Given the description of an element on the screen output the (x, y) to click on. 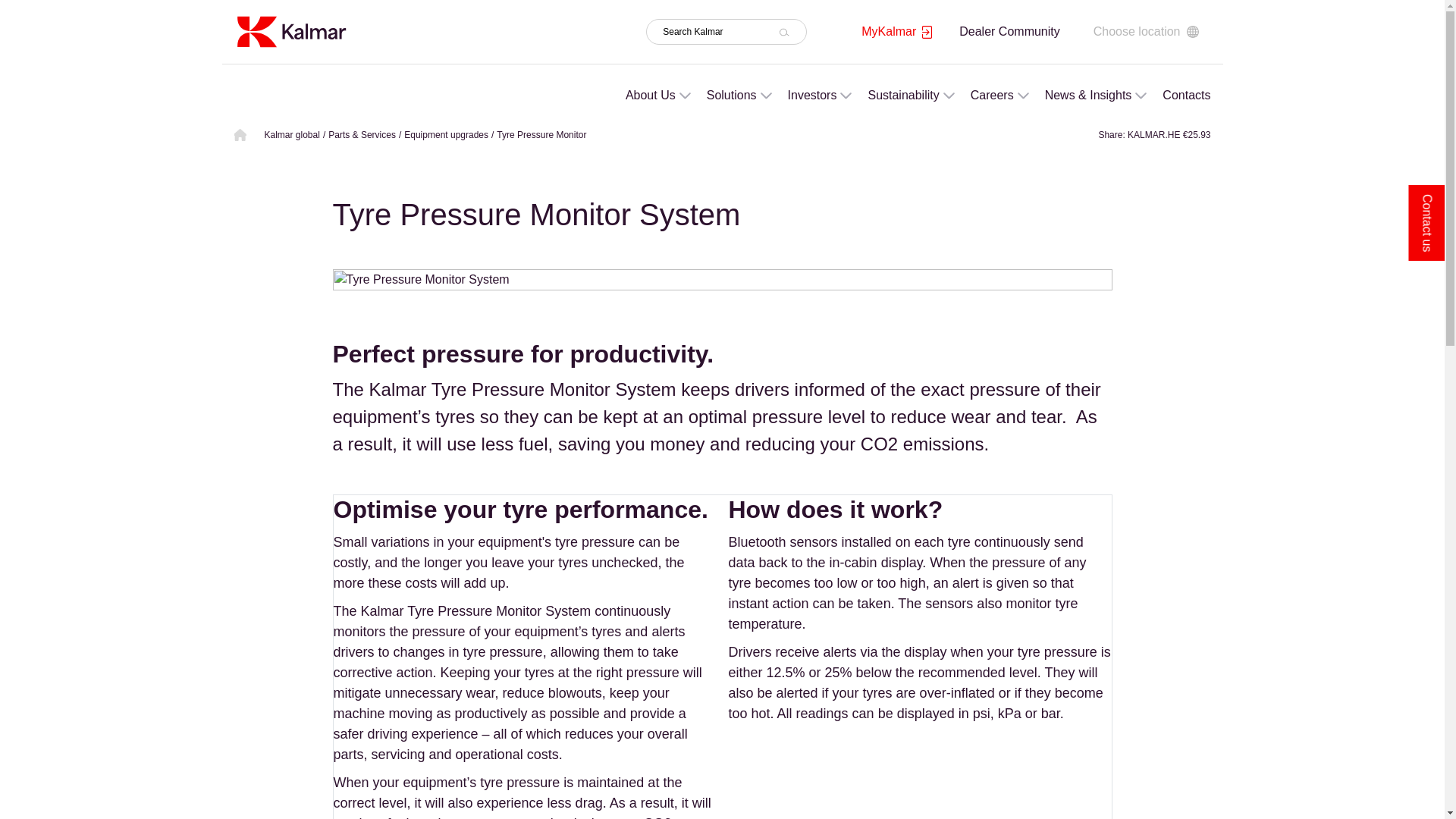
Kalmar logo (289, 31)
Home (289, 30)
Dealer Community (1009, 31)
Kalmar global (290, 134)
Equipment upgrades (445, 134)
Tyre Pressure Monitor System (721, 282)
MyKalmar (896, 31)
